Given the description of an element on the screen output the (x, y) to click on. 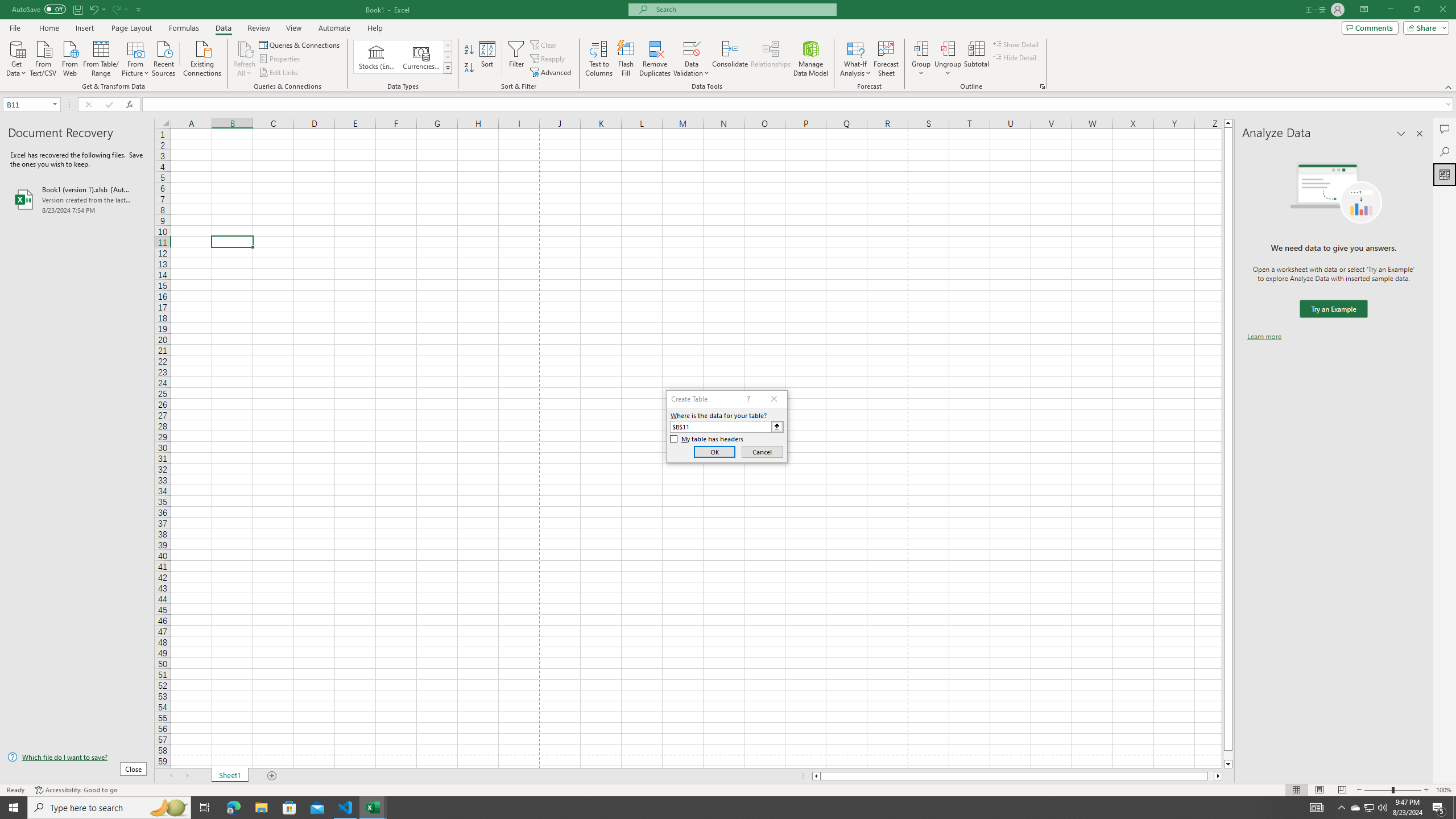
Consolidate... (729, 58)
